Given the description of an element on the screen output the (x, y) to click on. 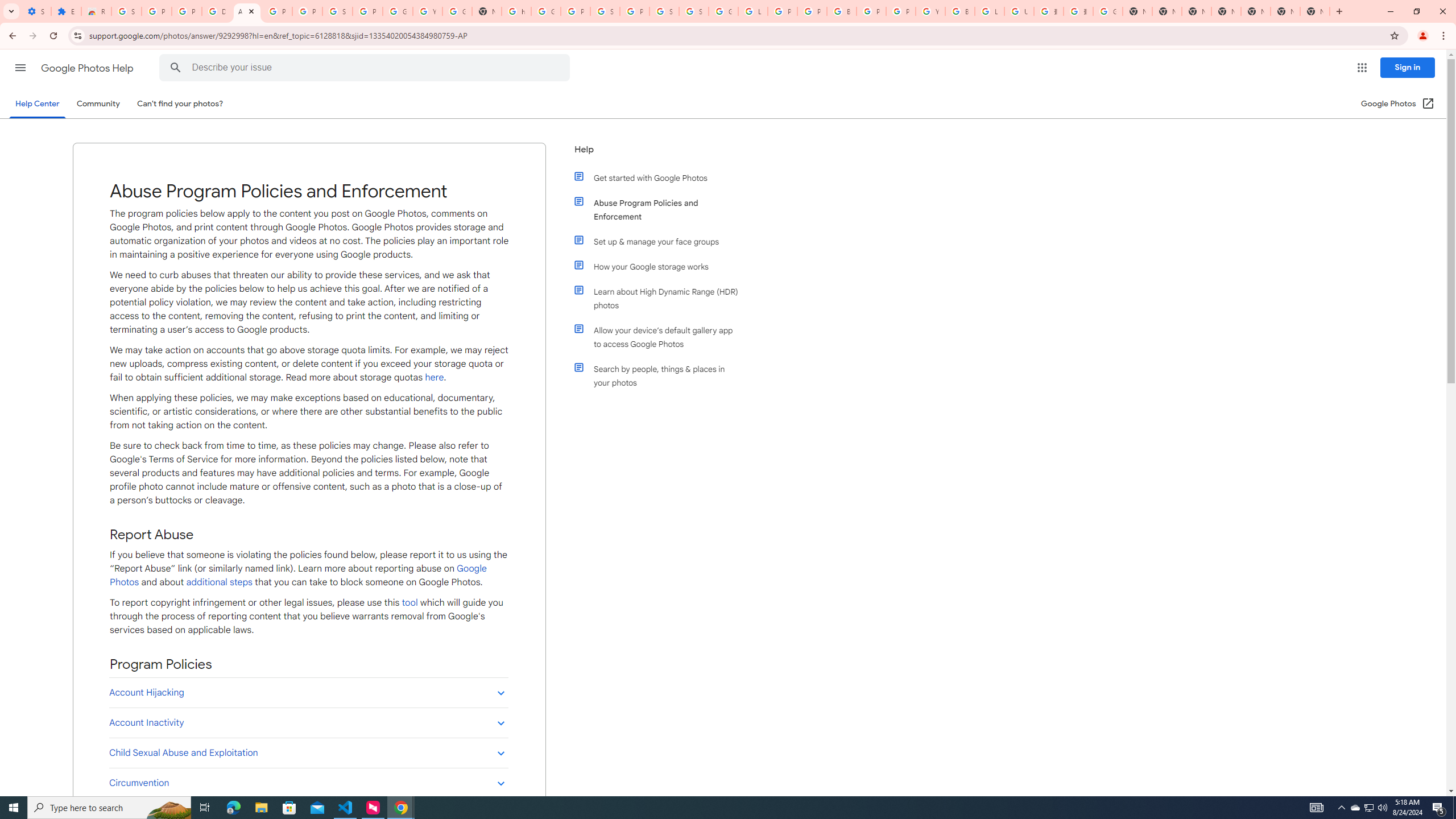
Sign in - Google Accounts (664, 11)
Set up & manage your face groups (661, 241)
Get started with Google Photos (661, 177)
Abuse Program Policies and Enforcement - Google Photos Help (247, 11)
Reviews: Helix Fruit Jump Arcade Game (95, 11)
YouTube (930, 11)
Sign in - Google Accounts (693, 11)
tool (409, 602)
